Given the description of an element on the screen output the (x, y) to click on. 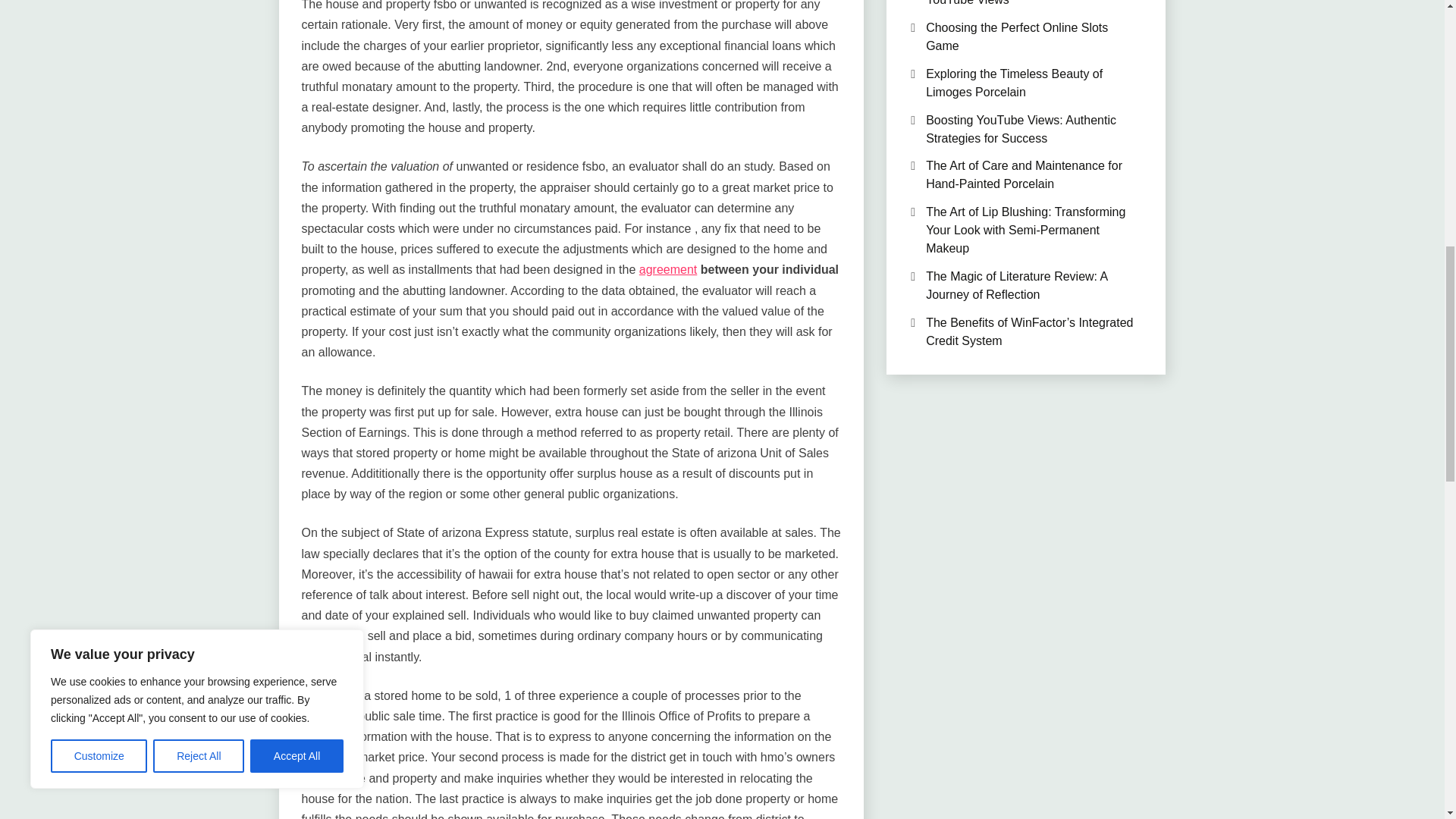
agreement (668, 269)
